Given the description of an element on the screen output the (x, y) to click on. 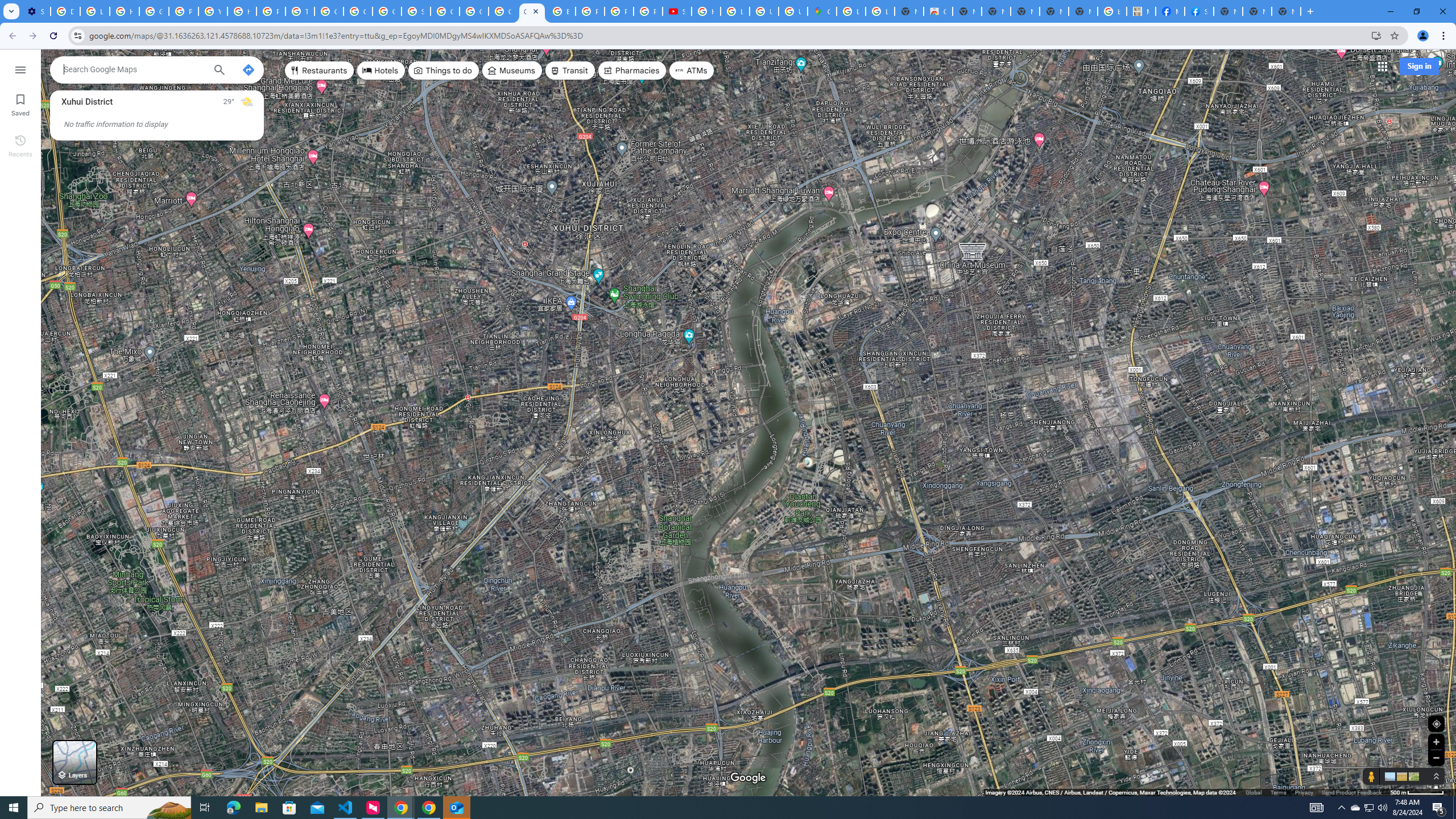
Pharmacies (632, 70)
Zoom out (1436, 757)
500 m (1417, 792)
New Tab (1286, 11)
Recents (20, 145)
Zoom in (1436, 741)
Museums (511, 70)
Layers (74, 762)
Menu (20, 68)
